Given the description of an element on the screen output the (x, y) to click on. 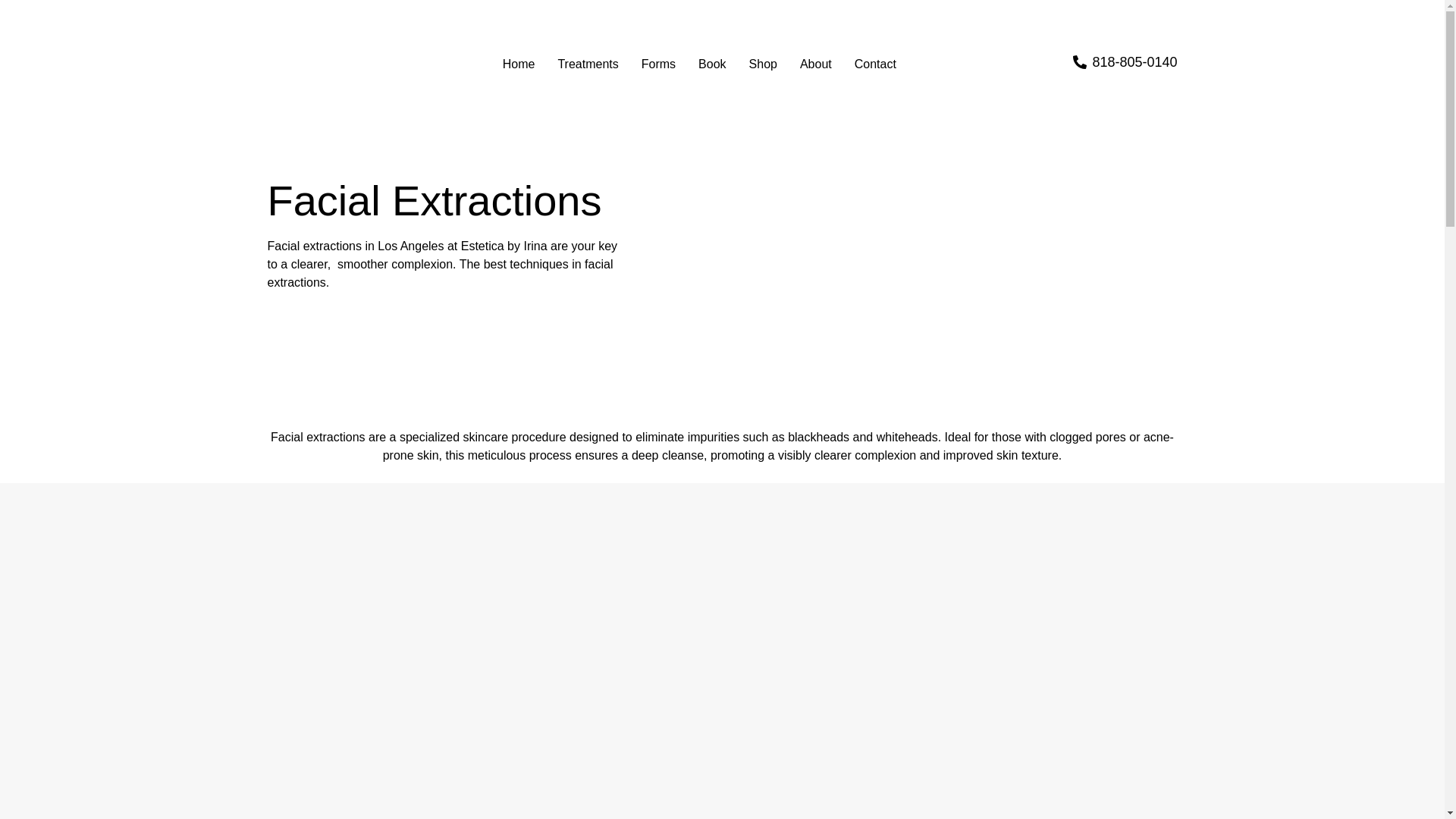
Home (519, 64)
Contact (875, 64)
Shop (763, 64)
Forms (658, 64)
About (816, 64)
818-805-0140 (1124, 62)
Book (711, 64)
Treatments (587, 64)
